Given the description of an element on the screen output the (x, y) to click on. 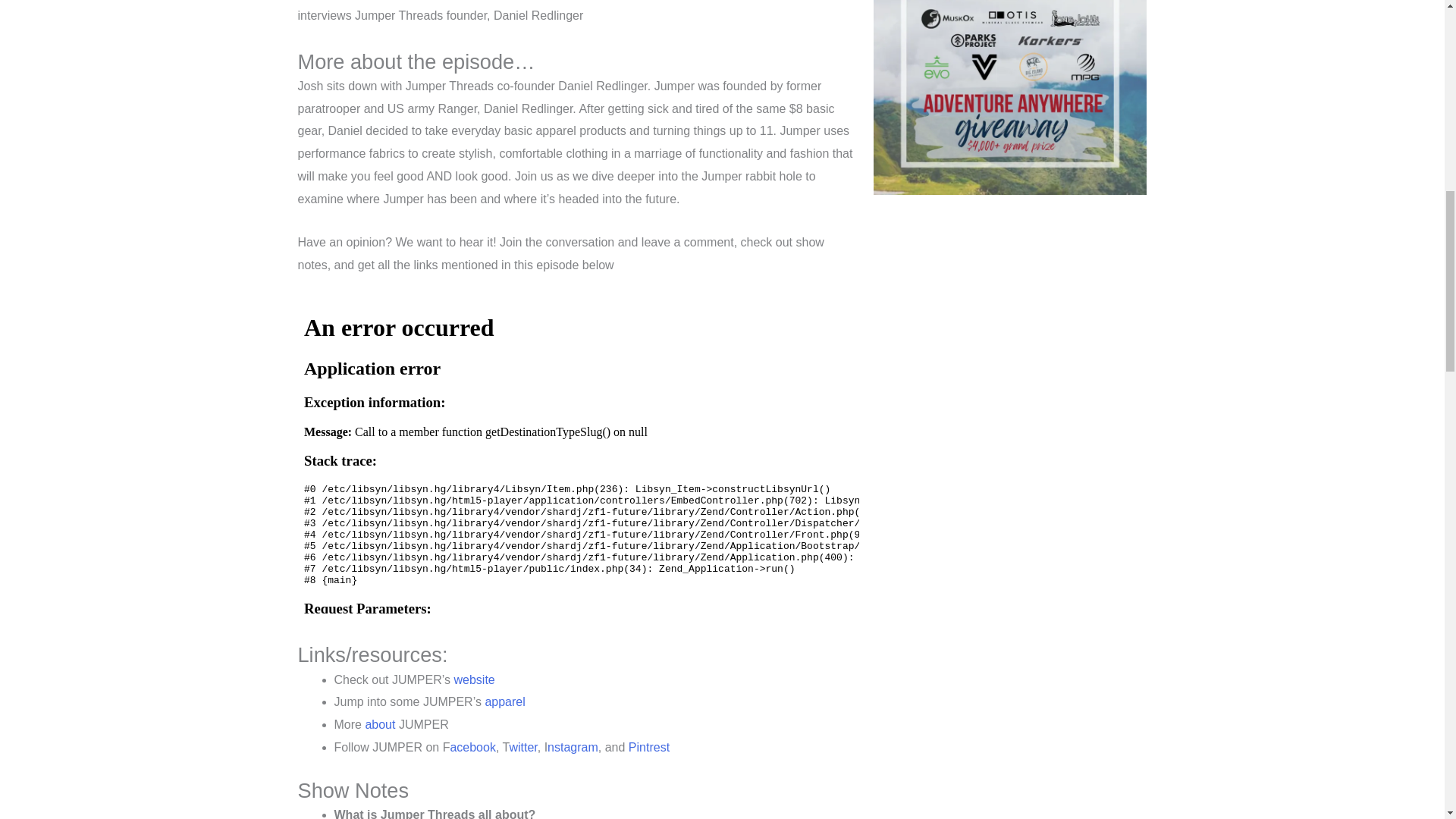
website (473, 679)
acebook (472, 747)
about (379, 724)
nstagram (572, 747)
witter (522, 747)
apparel (504, 701)
Pintrest (648, 747)
